Given the description of an element on the screen output the (x, y) to click on. 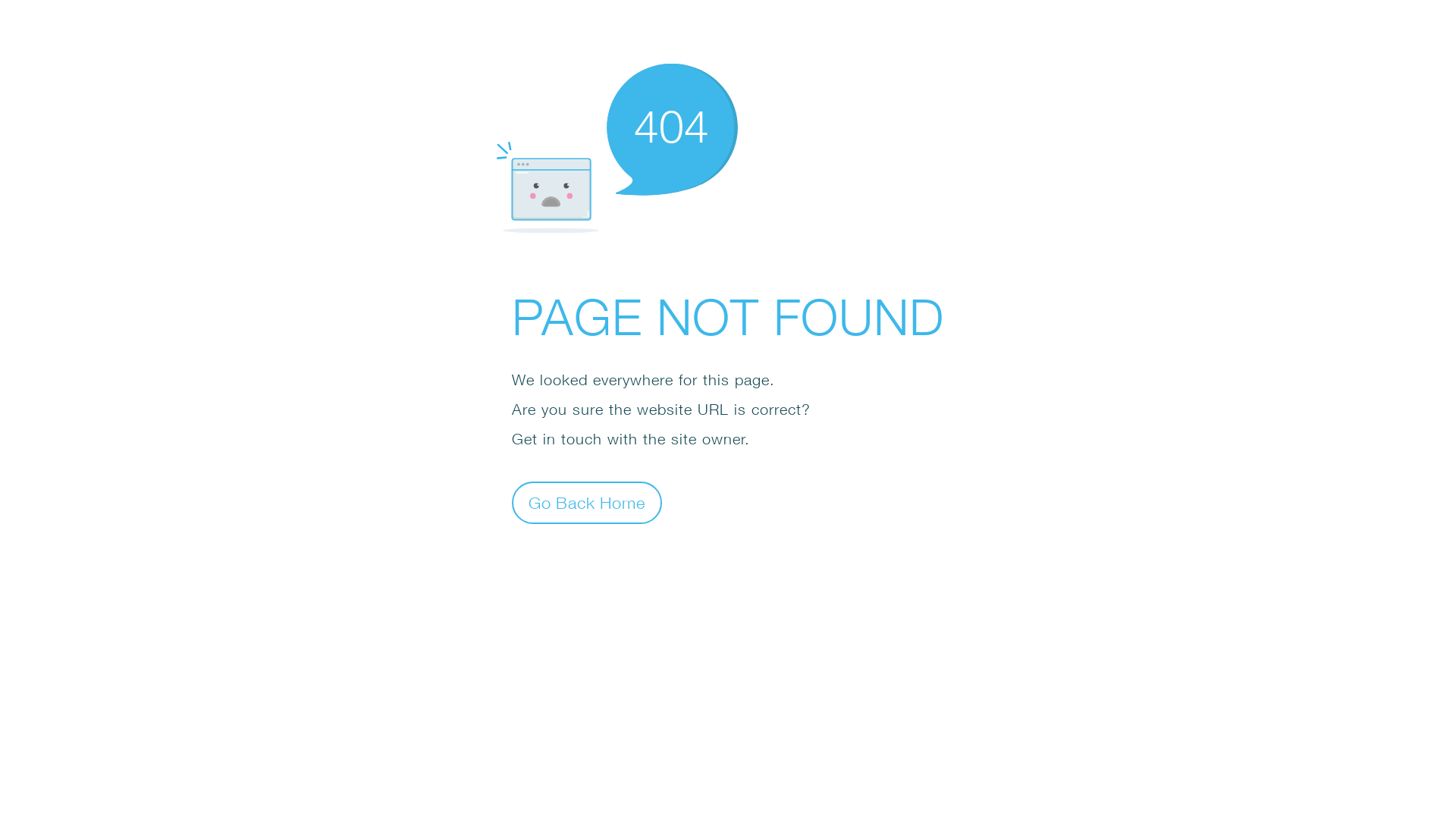
Go Back Home Element type: text (586, 502)
